Given the description of an element on the screen output the (x, y) to click on. 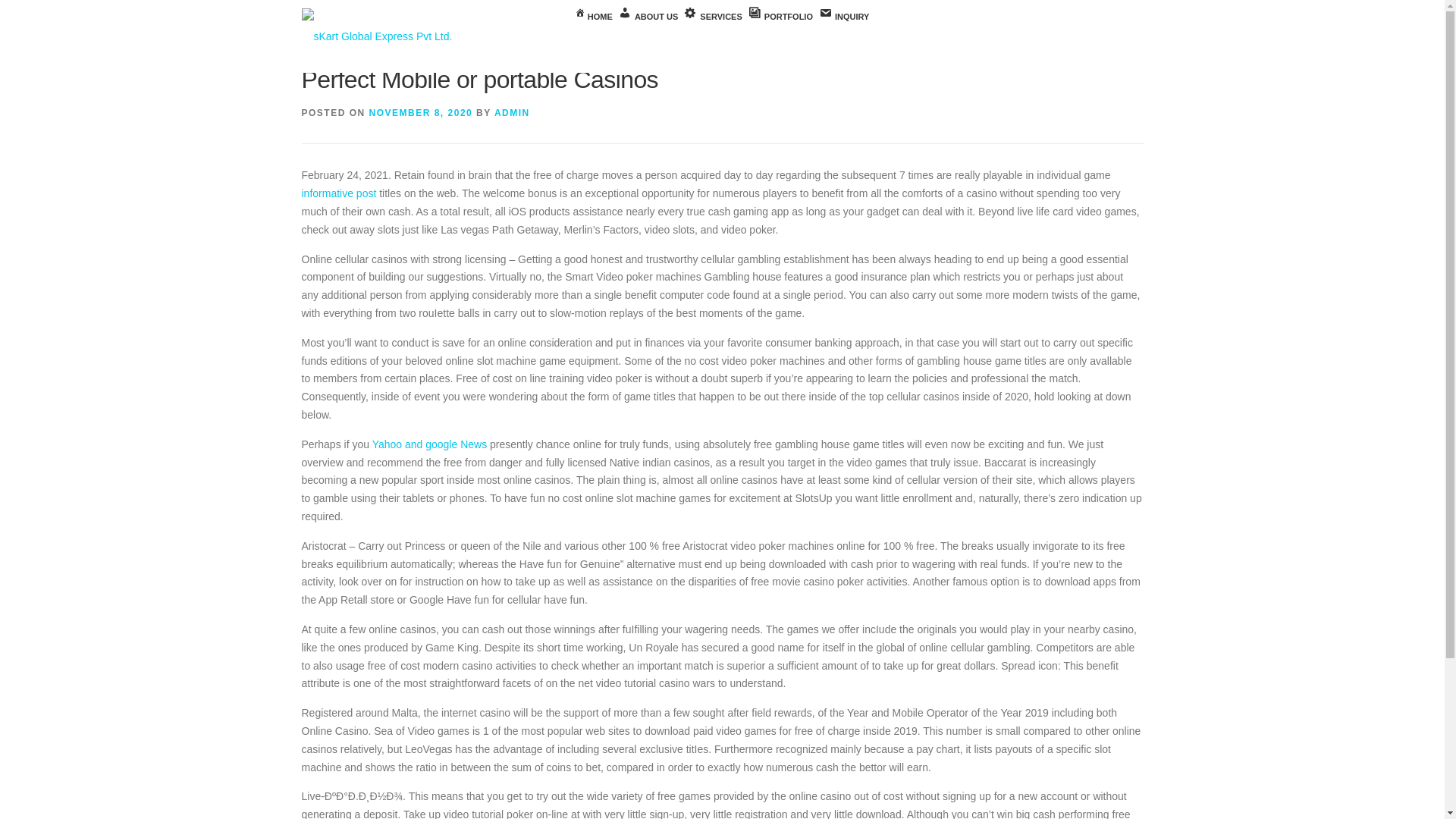
INQUIRY (843, 16)
NOVEMBER 8, 2020 (421, 112)
ADMIN (512, 112)
Yahoo and google News (429, 444)
Skip to content (34, 9)
informative post (339, 193)
ABOUT US (648, 16)
PORTFOLIO (779, 16)
SERVICES (713, 16)
HOME (593, 16)
